Given the description of an element on the screen output the (x, y) to click on. 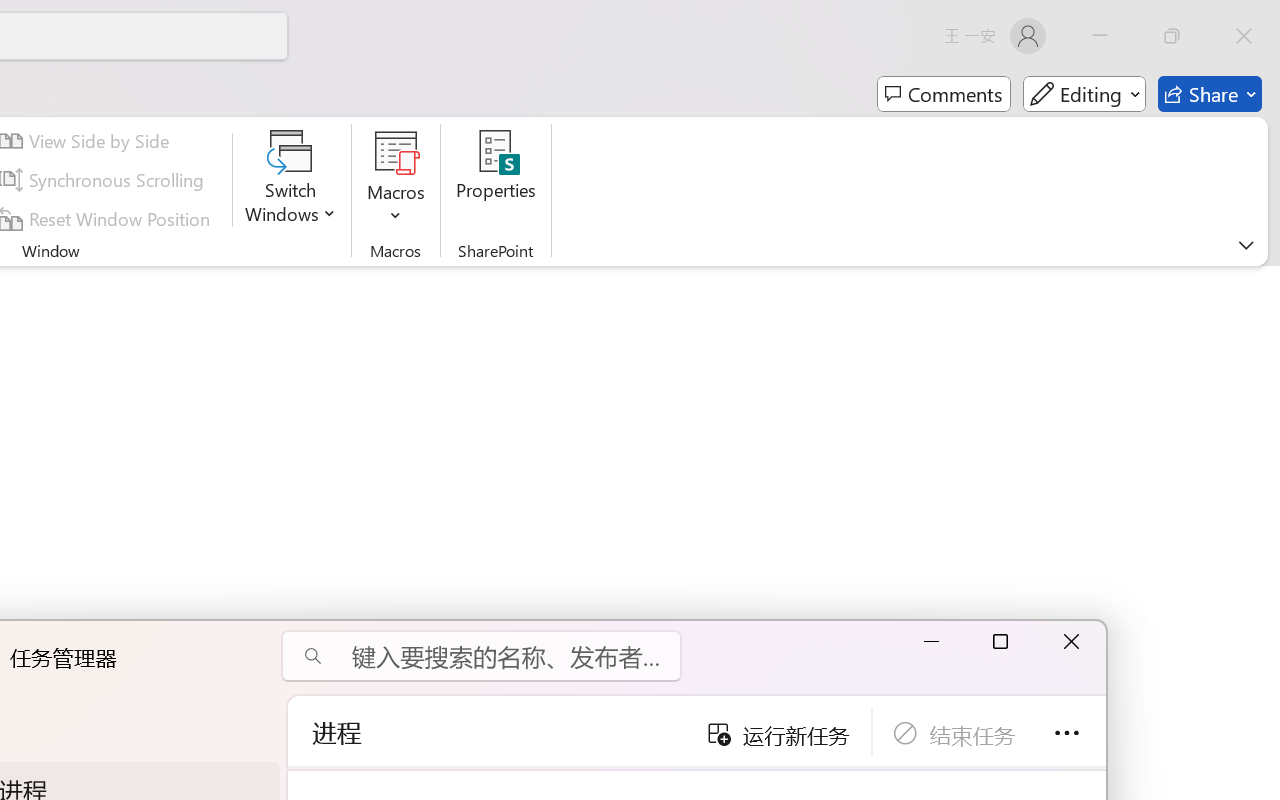
Properties (496, 179)
Ribbon Display Options (1246, 245)
Macros (395, 179)
Mode (1083, 94)
Switch Windows (290, 179)
Comments (943, 94)
View Macros (395, 151)
